Given the description of an element on the screen output the (x, y) to click on. 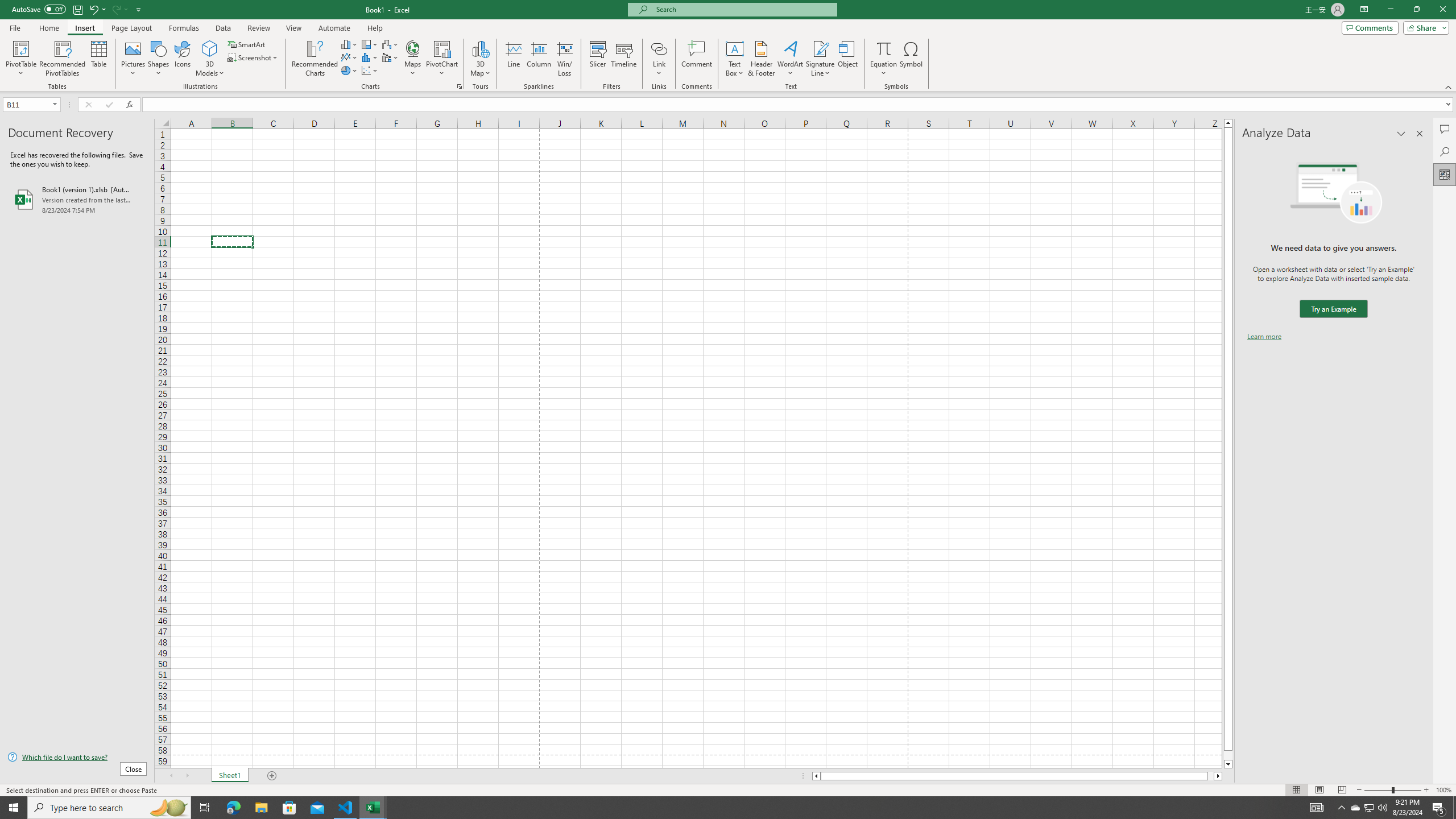
Recommended PivotTables (62, 58)
Slicer... (597, 58)
3D Map (480, 58)
Shapes (158, 58)
Symbol... (911, 58)
Insert Hierarchy Chart (369, 44)
Insert Line or Area Chart (349, 56)
